Given the description of an element on the screen output the (x, y) to click on. 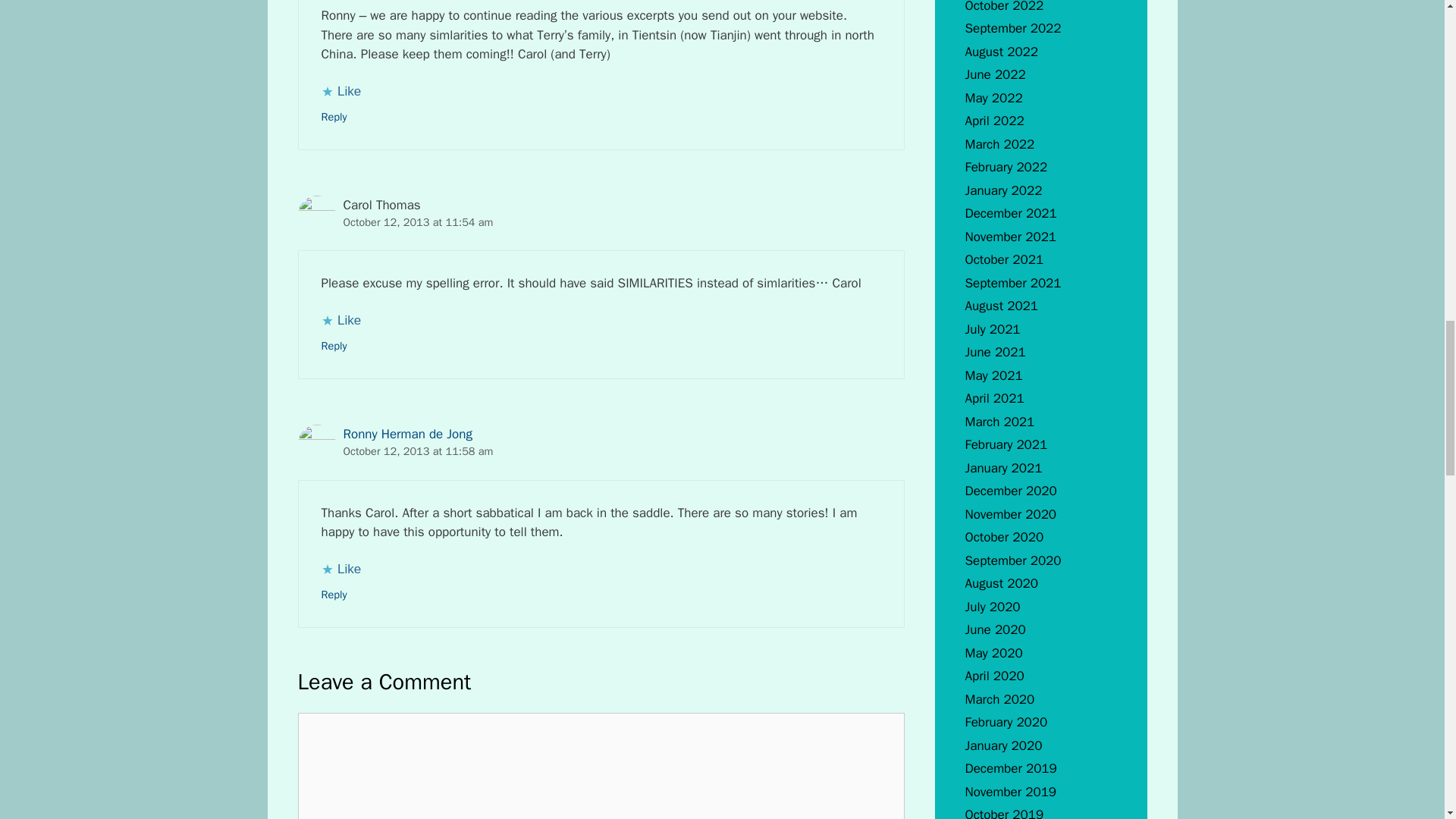
Reply (334, 345)
Reply (334, 594)
October 12, 2013 at 11:58 am (417, 450)
October 12, 2013 at 11:54 am (417, 222)
Ronny Herman de Jong (406, 433)
Reply (334, 116)
